Given the description of an element on the screen output the (x, y) to click on. 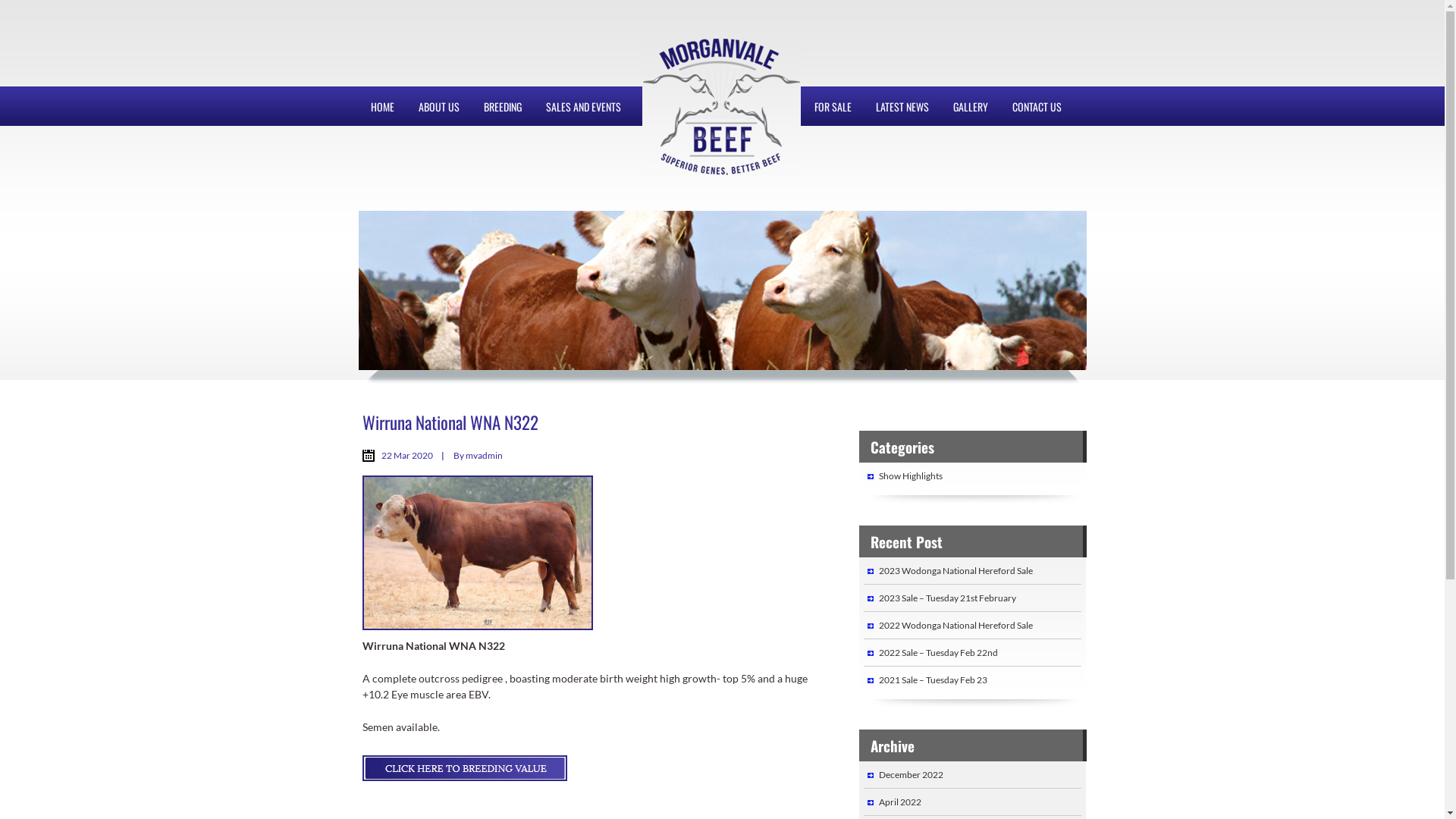
LATEST NEWS Element type: text (901, 105)
HOME Element type: text (381, 105)
CONTACT US Element type: text (1036, 105)
Show Highlights Element type: text (909, 475)
GALLERY Element type: text (969, 105)
April 2022 Element type: text (899, 801)
2023 Wodonga National Hereford Sale Element type: text (955, 570)
December 2022 Element type: text (910, 774)
SALES AND EVENTS Element type: text (583, 105)
2022 Wodonga National Hereford Sale Element type: text (955, 624)
ABOUT US Element type: text (438, 105)
FOR SALE Element type: text (832, 105)
BREEDING Element type: text (502, 105)
